Given the description of an element on the screen output the (x, y) to click on. 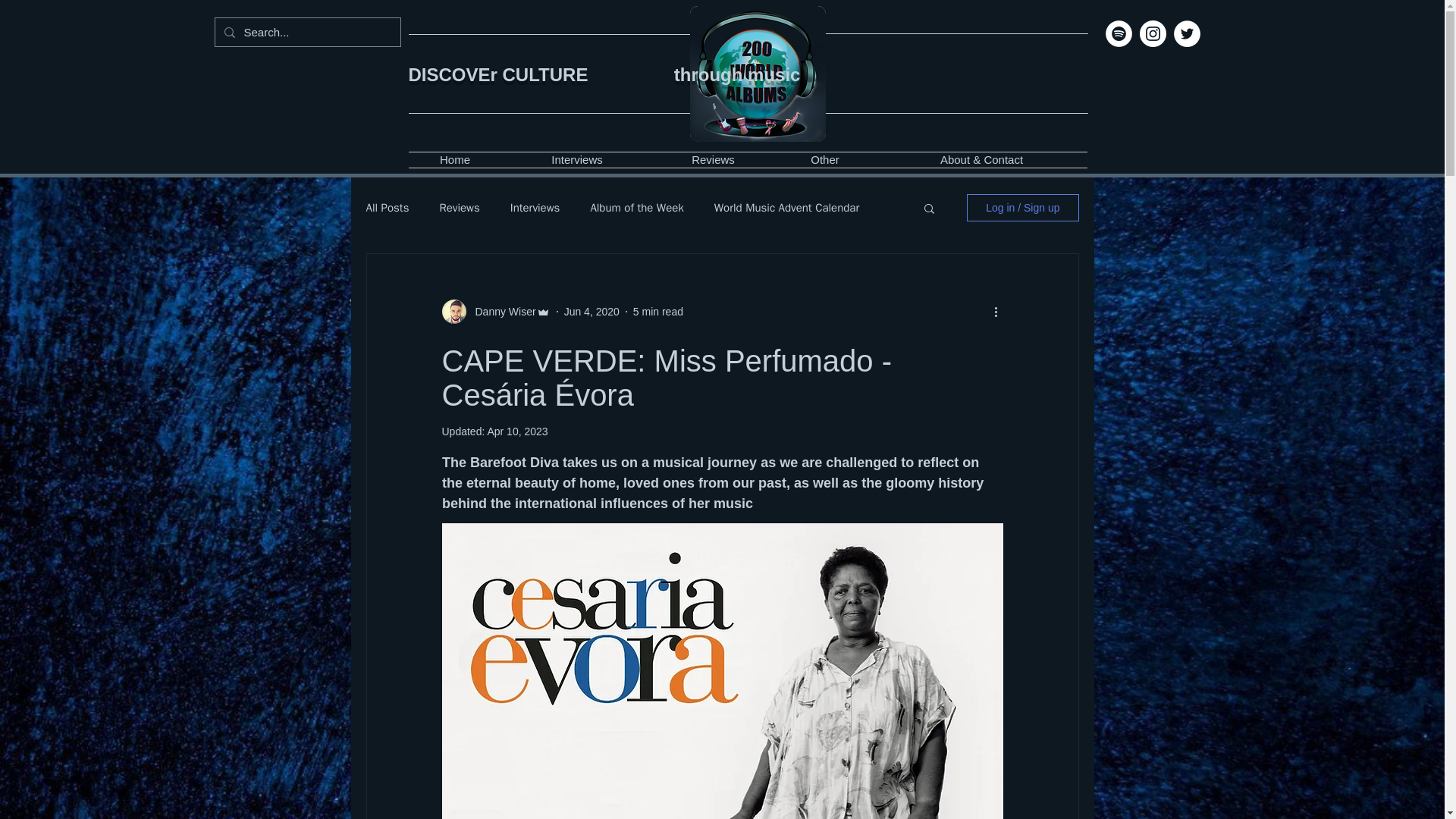
Danny Wiser (500, 311)
All Posts (387, 206)
Album of the Week (635, 206)
World Music Advent Calendar (786, 206)
5 min read (657, 310)
Interviews (535, 206)
Reviews (459, 206)
Interviews (577, 159)
Reviews (712, 159)
Jun 4, 2020 (592, 310)
